Given the description of an element on the screen output the (x, y) to click on. 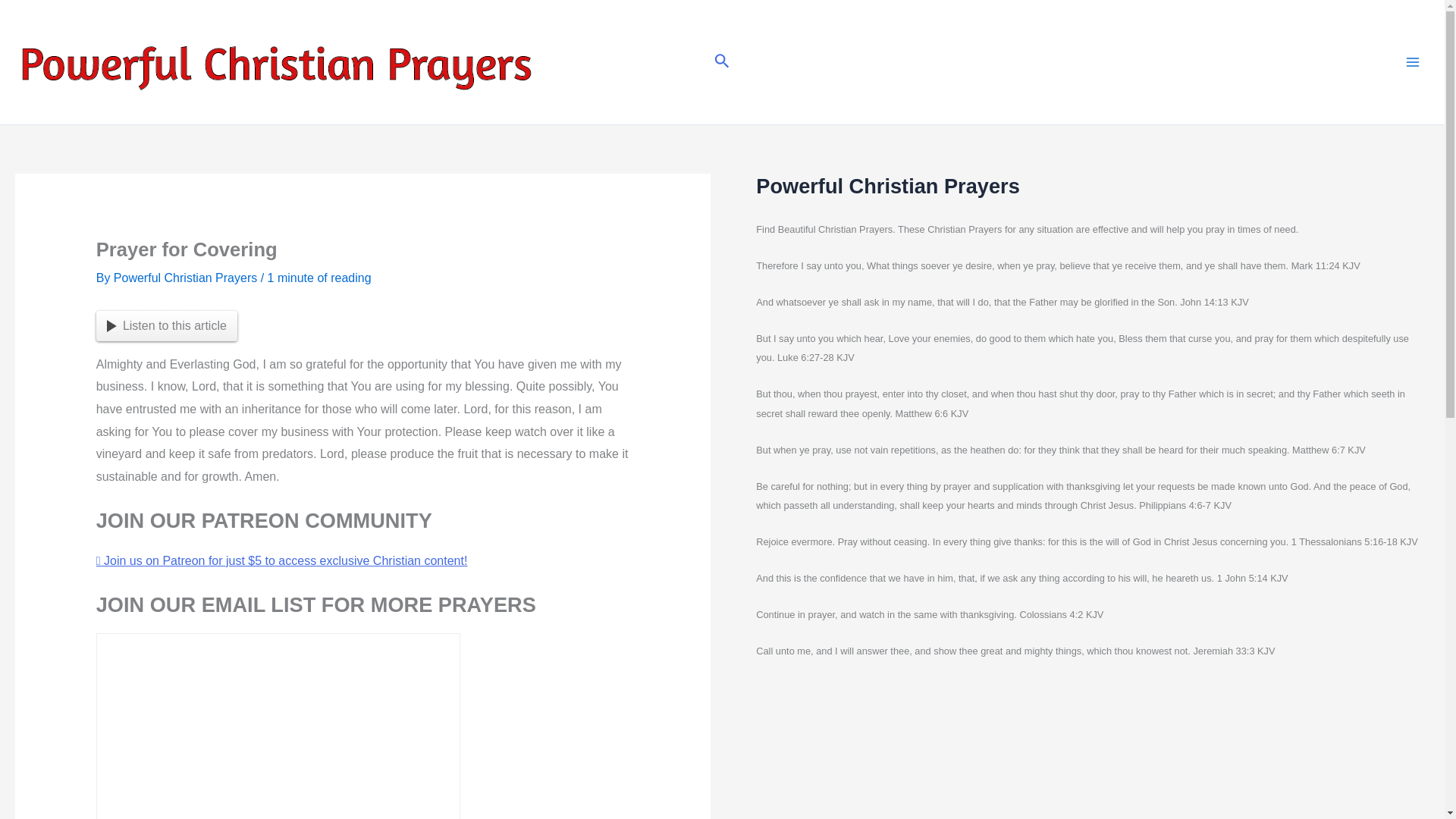
Powerful Christian Prayers (186, 277)
View all posts by Powerful Christian Prayers (186, 277)
